Given the description of an element on the screen output the (x, y) to click on. 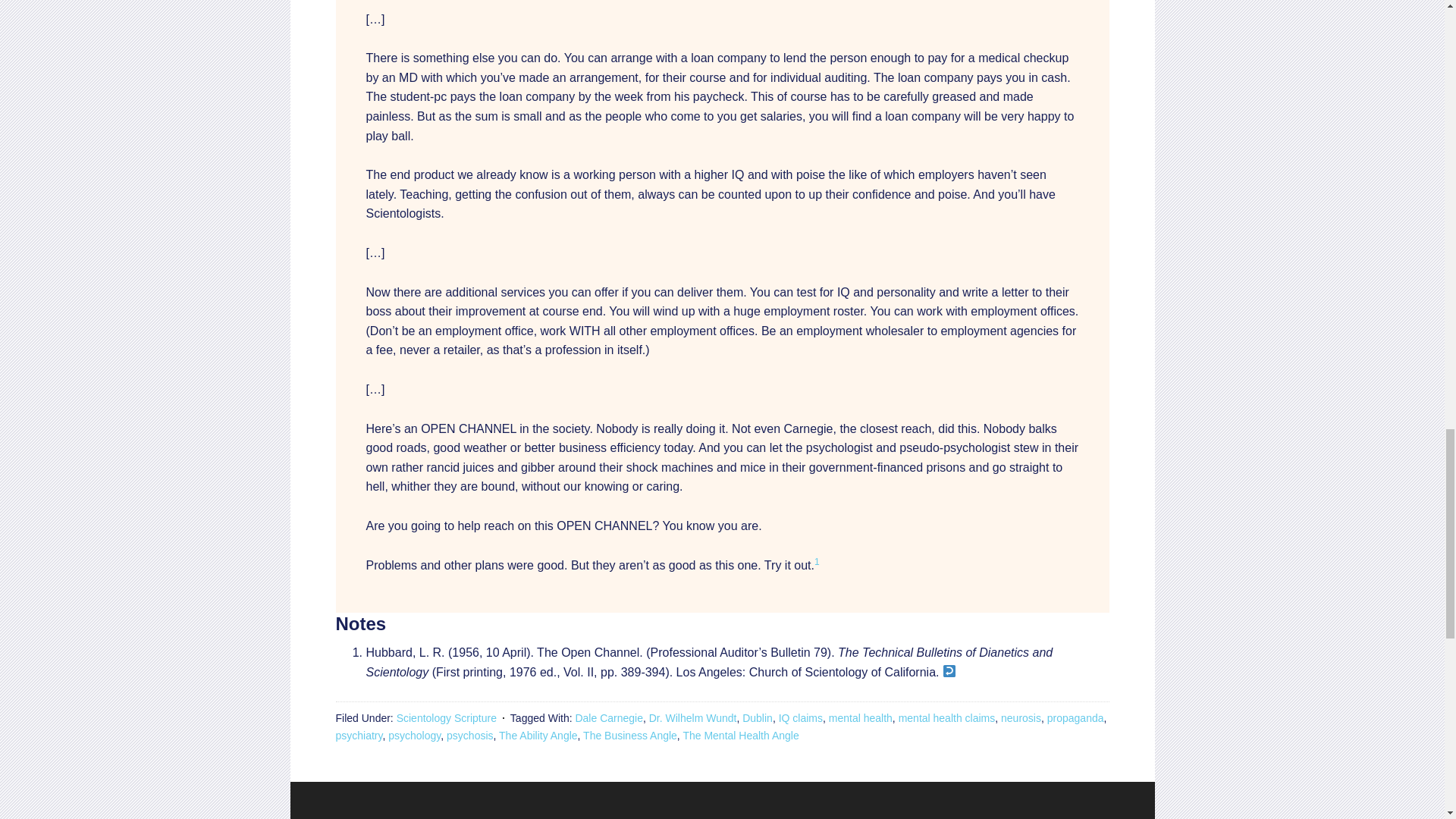
mental health (860, 717)
psychosis (469, 735)
IQ claims (800, 717)
mental health claims (946, 717)
Dale Carnegie (609, 717)
propaganda (1074, 717)
psychiatry (357, 735)
The Ability Angle (538, 735)
psychology (414, 735)
Scientology Scripture (446, 717)
Dublin (757, 717)
The Business Angle (630, 735)
Dr. Wilhelm Wundt (692, 717)
neurosis (1021, 717)
The Mental Health Angle (739, 735)
